Given the description of an element on the screen output the (x, y) to click on. 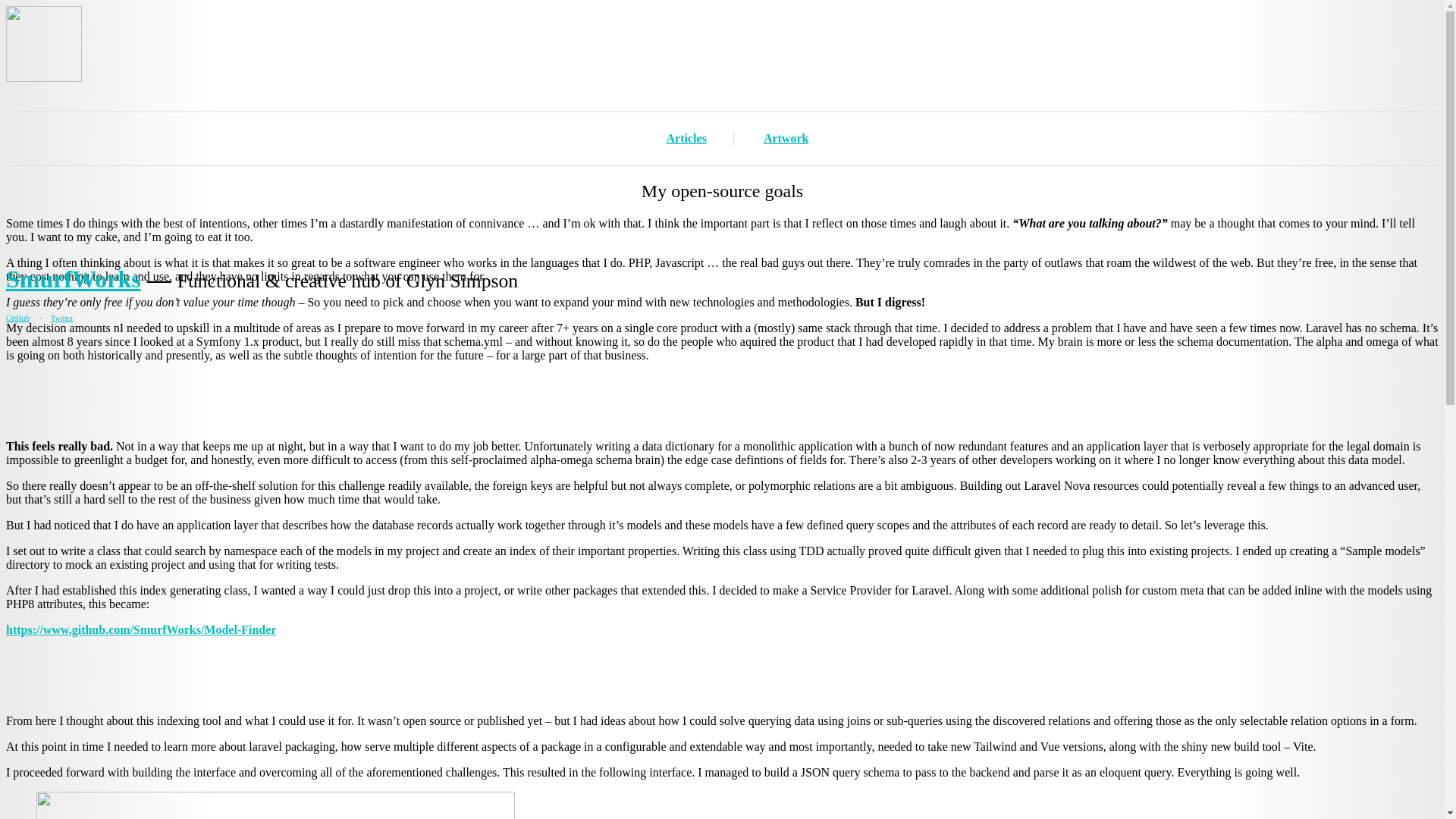
Twitter (62, 317)
Artwork (785, 137)
SmurfWorks (73, 278)
Articles (686, 137)
GitHub (17, 317)
SmurfWorks (73, 278)
